Given the description of an element on the screen output the (x, y) to click on. 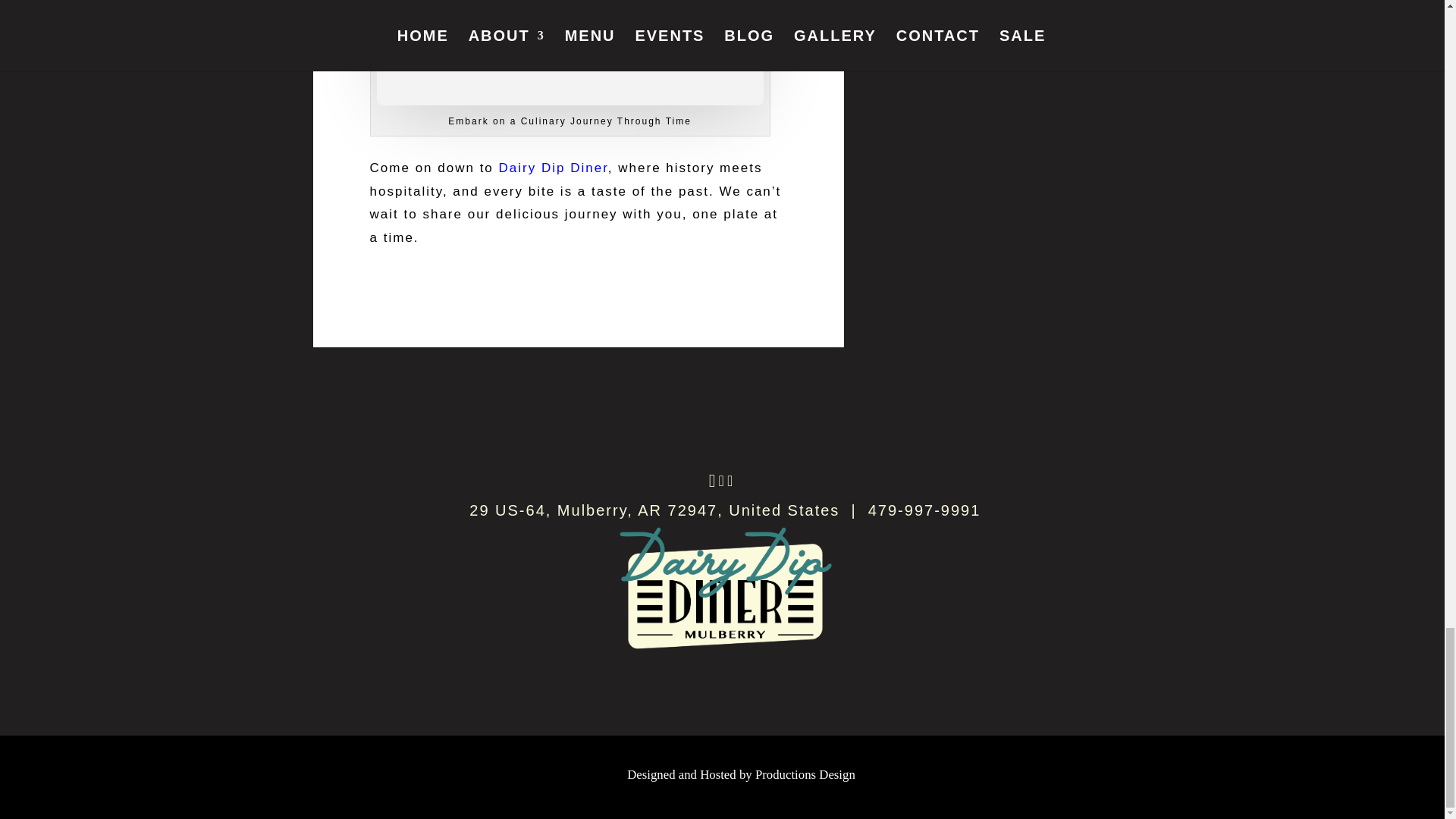
Dairy Dip Diner (553, 167)
Designed and Hosted by Productions Design (741, 774)
